Given the description of an element on the screen output the (x, y) to click on. 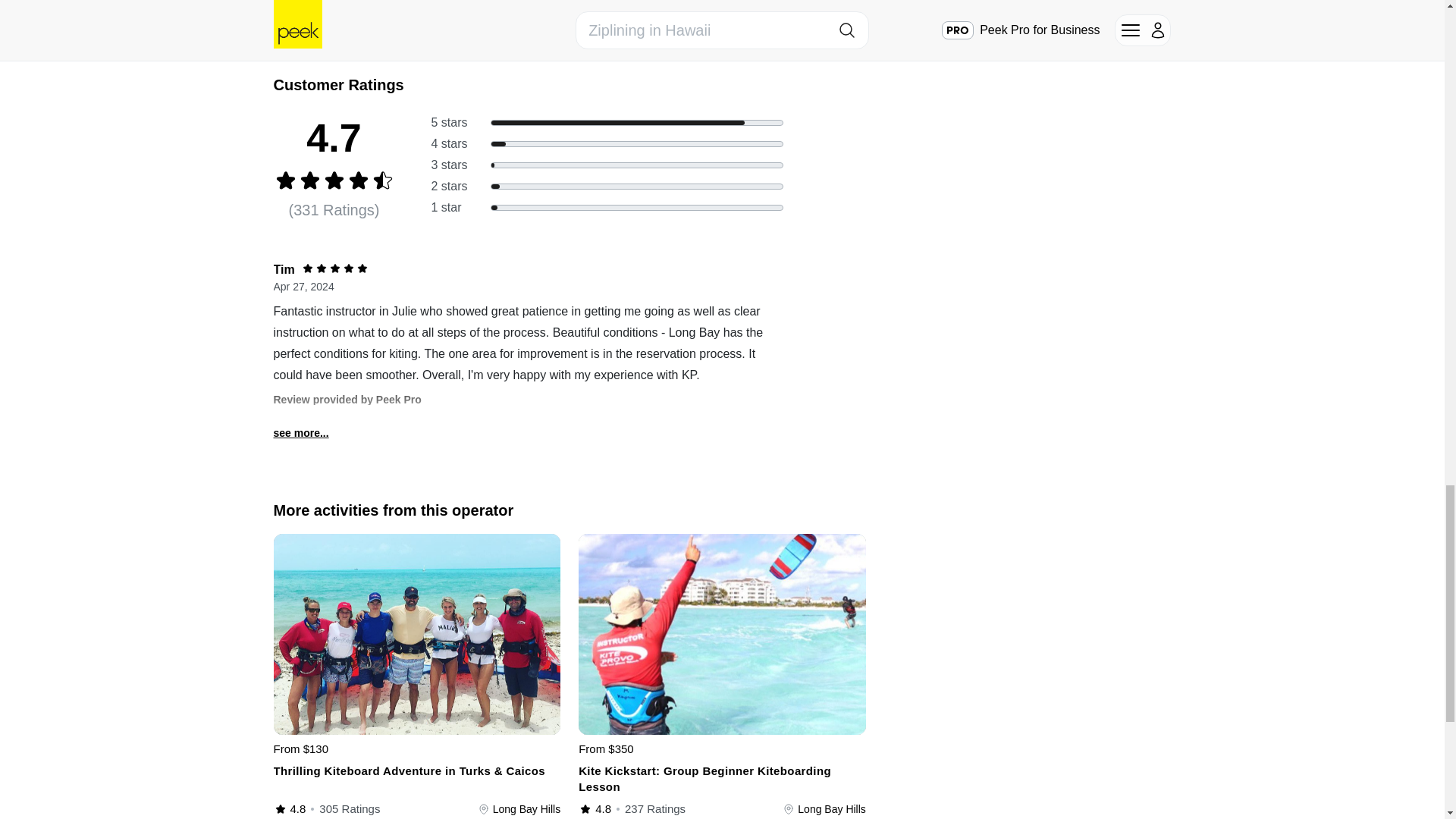
see more... (301, 433)
